Given the description of an element on the screen output the (x, y) to click on. 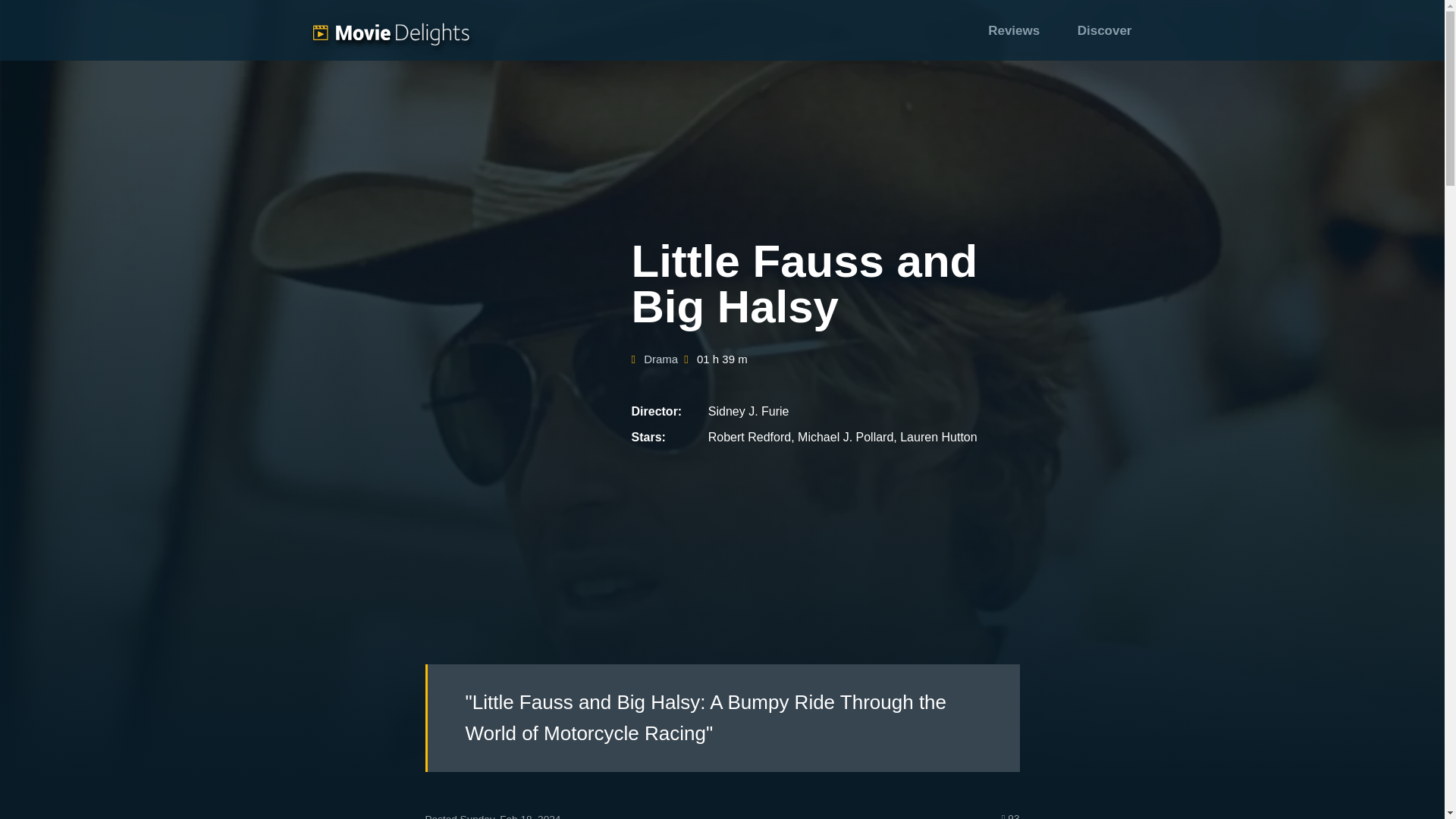
Discover (1104, 30)
 genre movie reviews (660, 359)
Drama (660, 359)
